Given the description of an element on the screen output the (x, y) to click on. 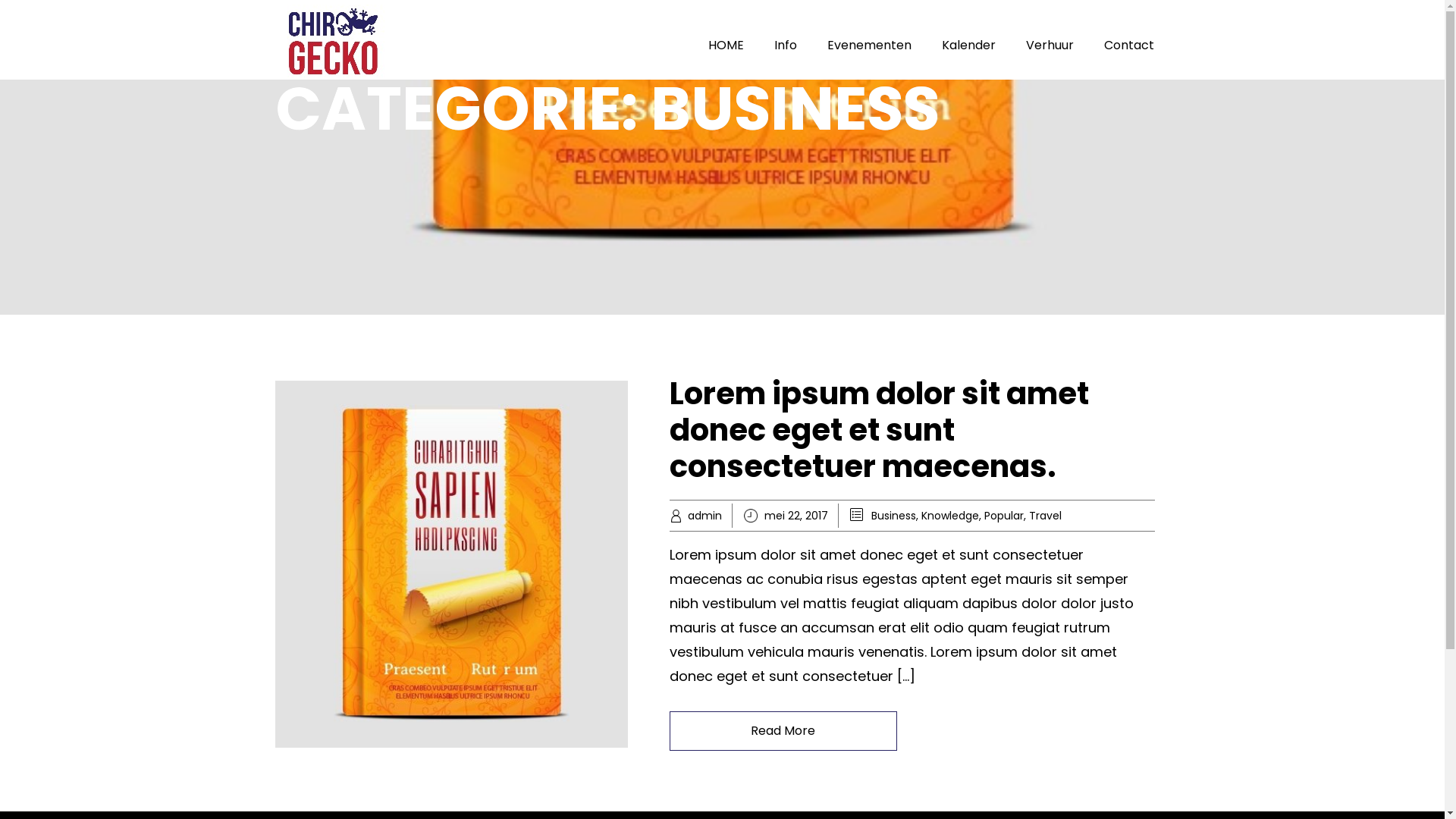
Contact Element type: text (1128, 45)
HOME Element type: text (726, 45)
Read More Element type: text (782, 730)
Travel Element type: text (1044, 515)
Info Element type: text (785, 45)
Evenementen Element type: text (869, 45)
Popular Element type: text (1003, 515)
Verhuur Element type: text (1049, 45)
Kalender Element type: text (968, 45)
admin Element type: text (694, 515)
Knowledge Element type: text (949, 515)
Business Element type: text (892, 515)
